Given the description of an element on the screen output the (x, y) to click on. 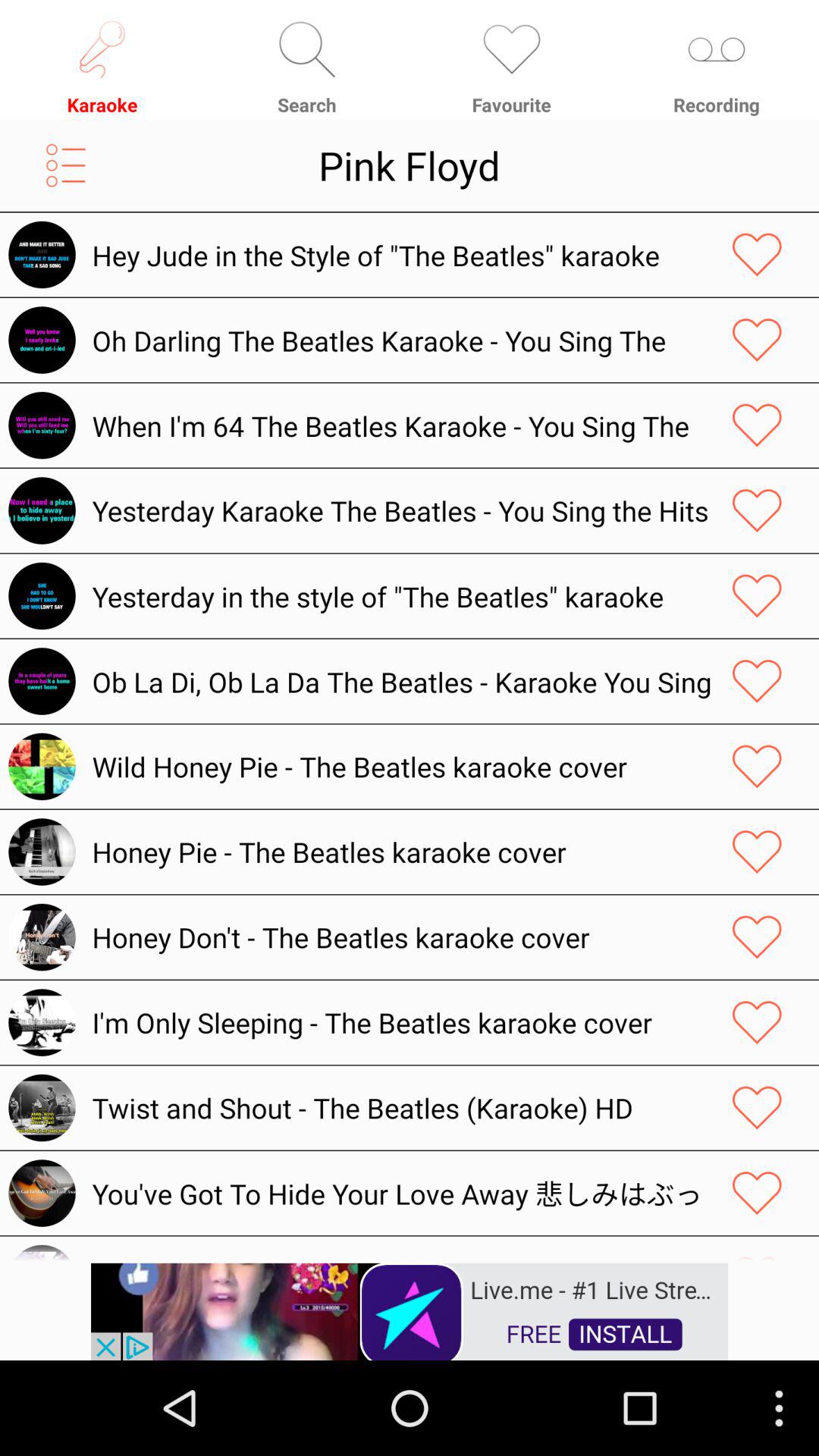
open menu (65, 165)
